Given the description of an element on the screen output the (x, y) to click on. 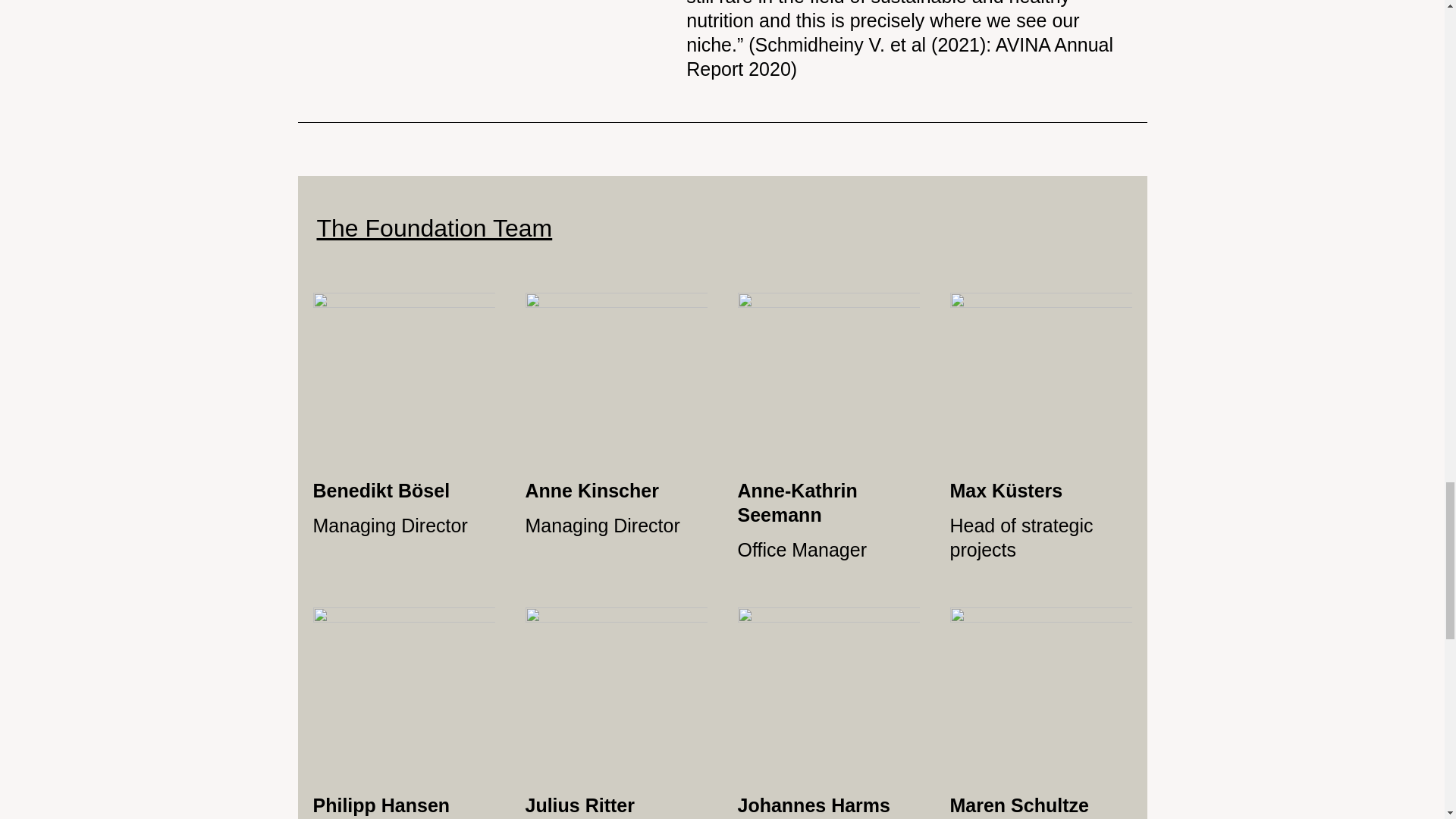
Page 1 (905, 40)
